Given the description of an element on the screen output the (x, y) to click on. 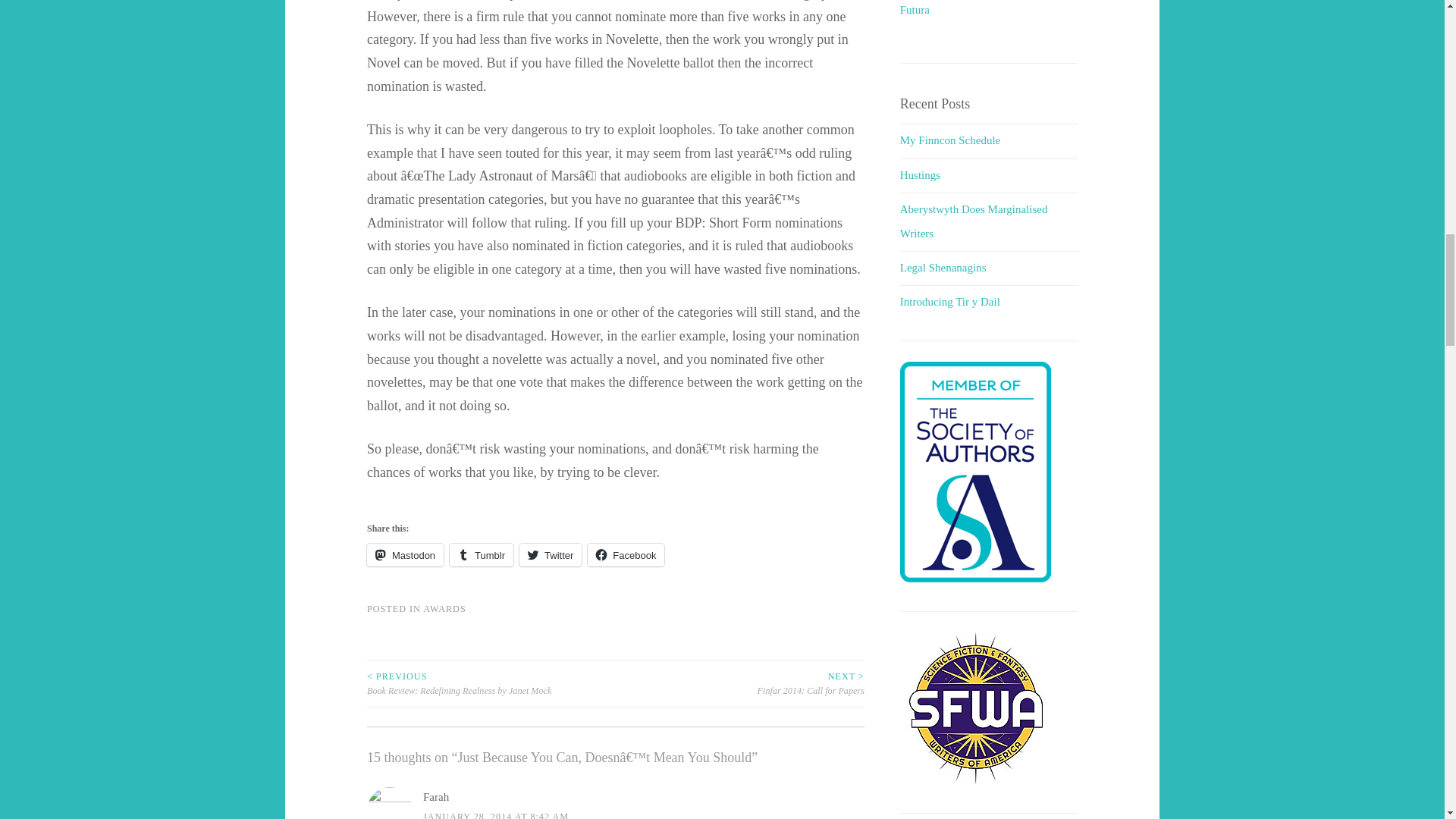
Mastodon (405, 554)
Click to share on Tumblr (481, 554)
Click to share on Twitter (549, 554)
Click to share on Facebook (625, 554)
Click to share on Mastodon (405, 554)
AWARDS (444, 608)
Twitter (549, 554)
Facebook (625, 554)
Tumblr (481, 554)
